Given the description of an element on the screen output the (x, y) to click on. 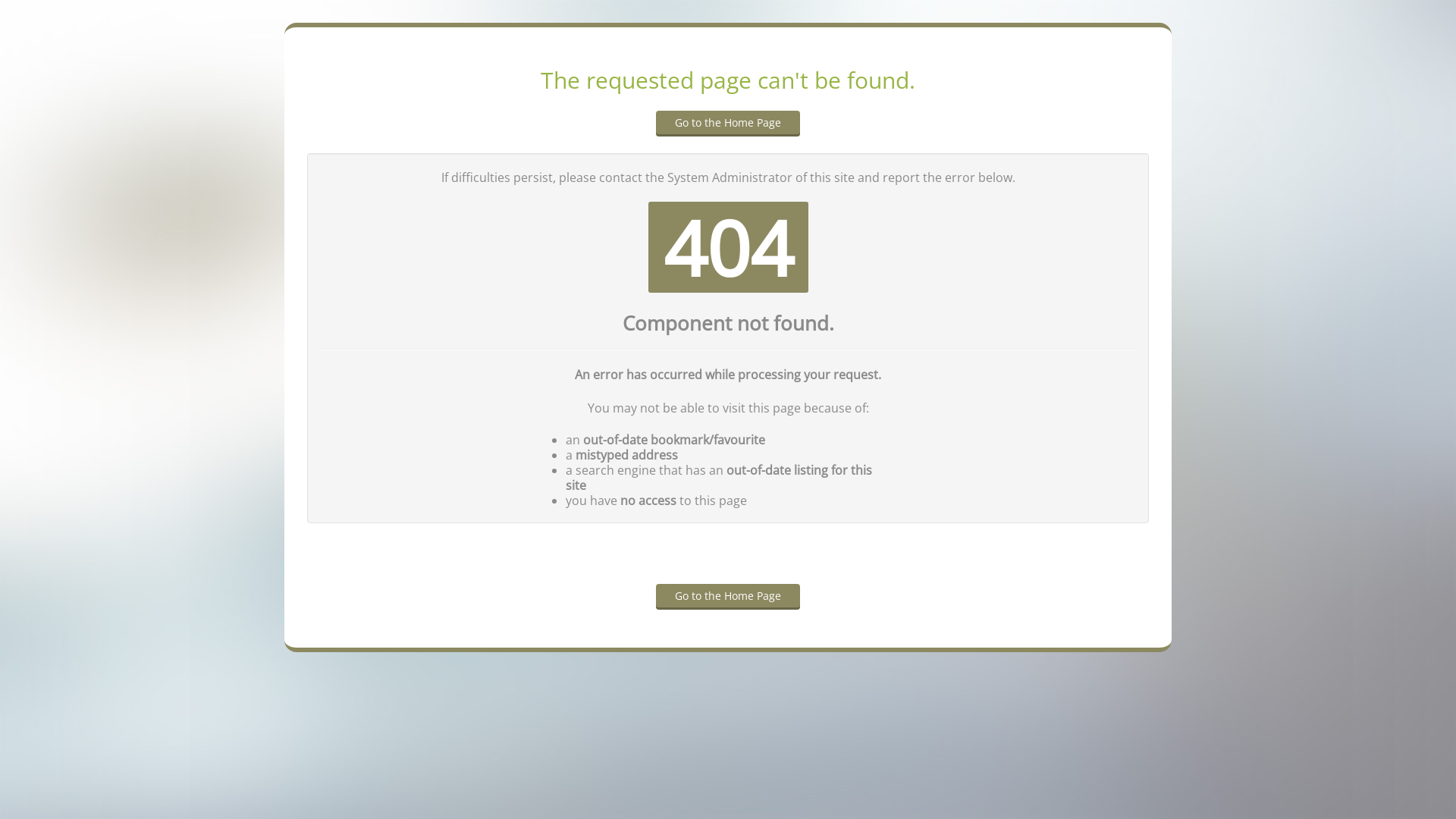
Go to the Home Page Element type: text (727, 596)
Go to the Home Page Element type: text (727, 123)
